Given the description of an element on the screen output the (x, y) to click on. 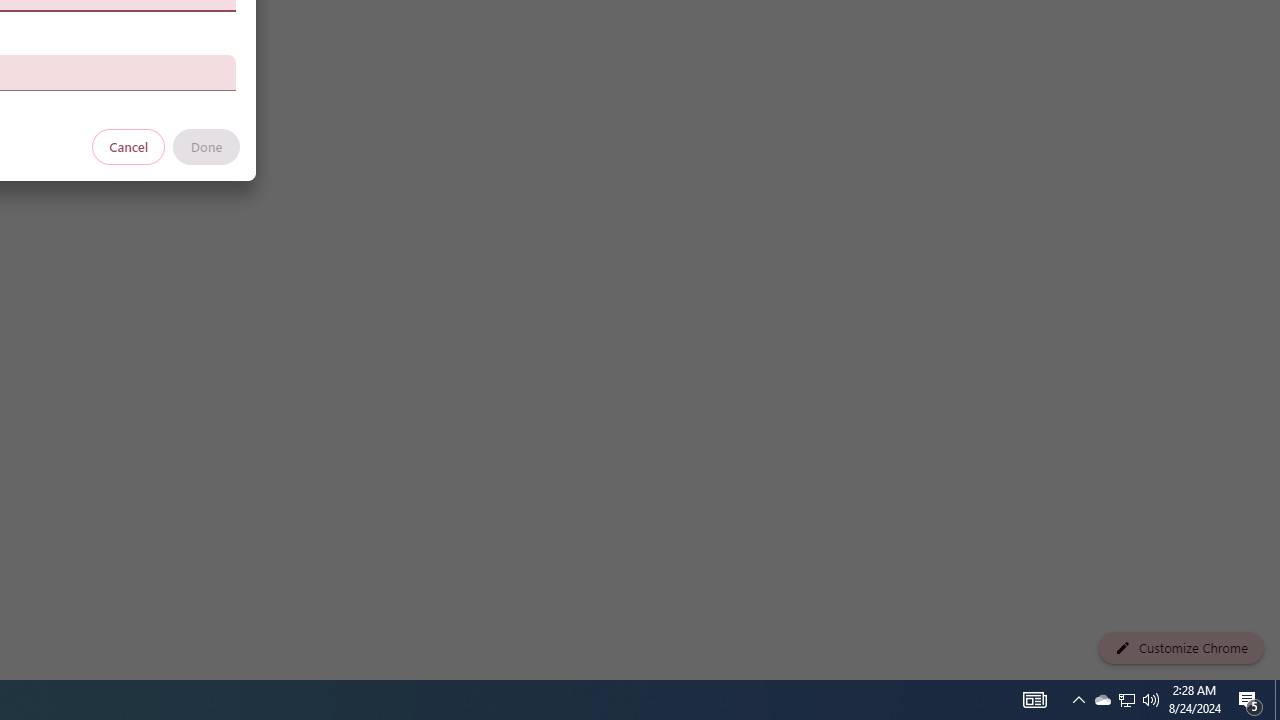
Cancel (129, 146)
Done (206, 146)
